Given the description of an element on the screen output the (x, y) to click on. 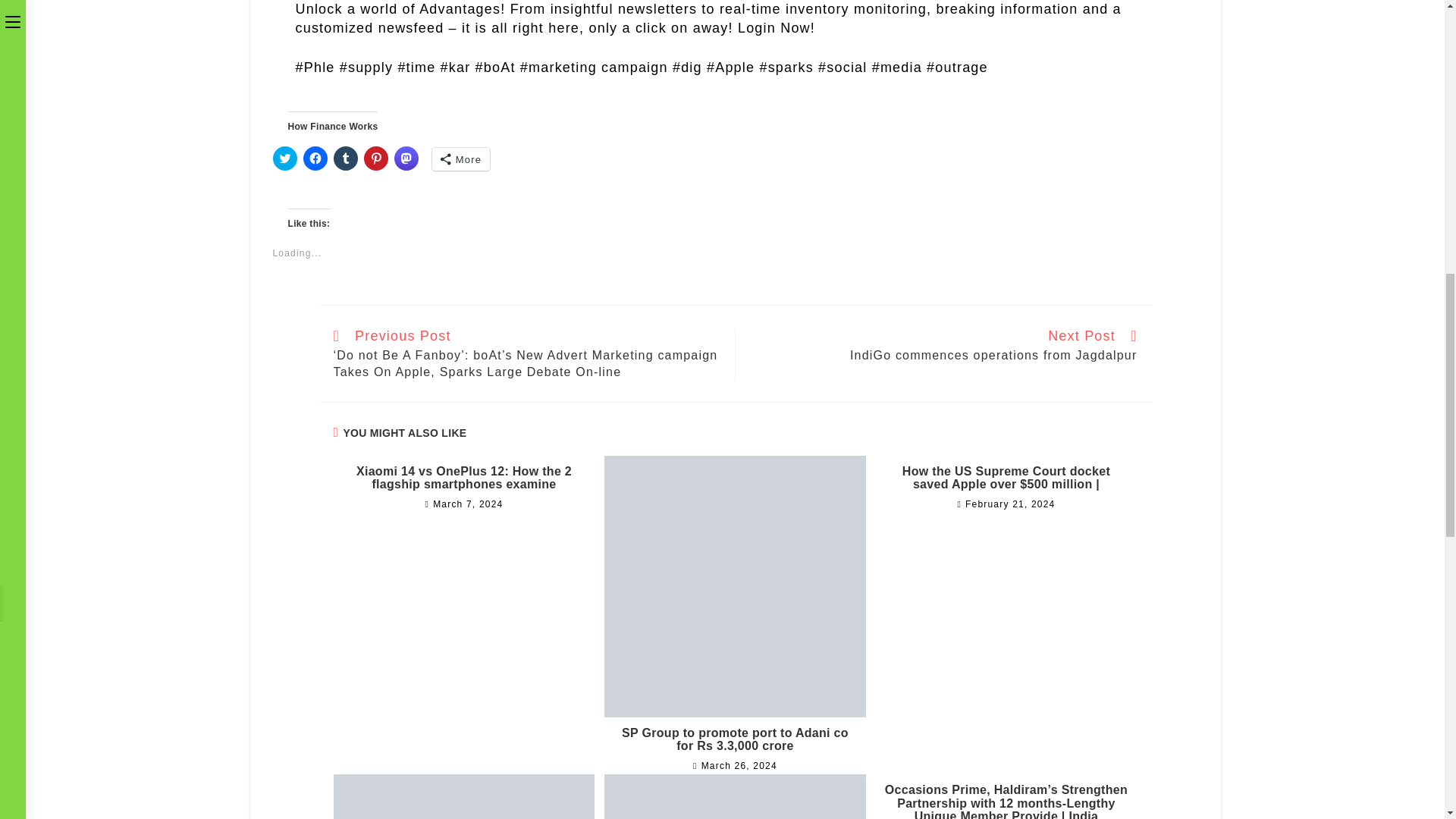
Click to share on Pinterest (376, 158)
Click to share on Mastodon (406, 158)
Click to share on Facebook (314, 158)
Click to share on Tumblr (345, 158)
Click to share on Twitter (285, 158)
